Given the description of an element on the screen output the (x, y) to click on. 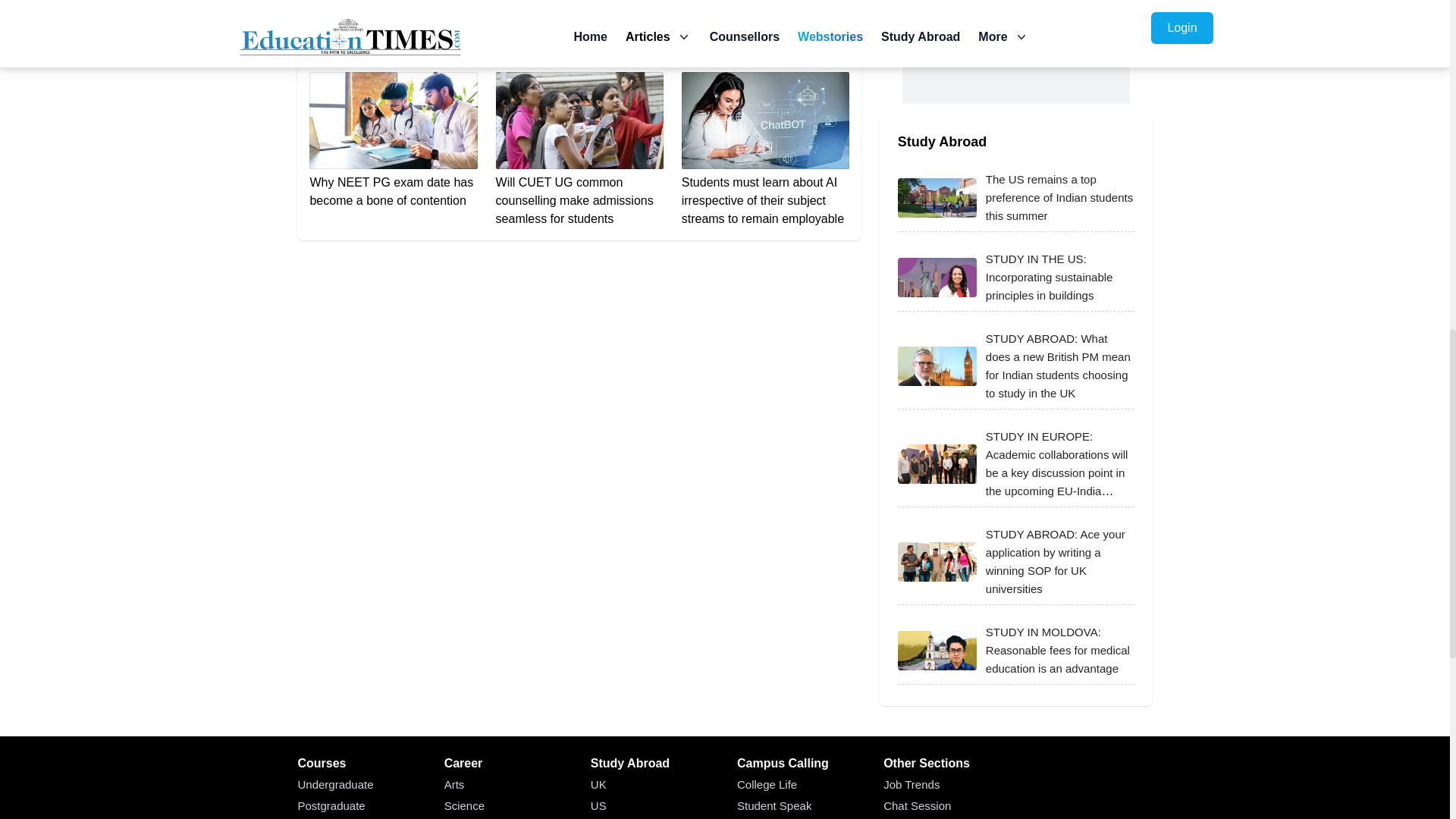
Why NEET PG exam date has become a bone of contention (392, 140)
3rd party ad content (1015, 52)
